Given the description of an element on the screen output the (x, y) to click on. 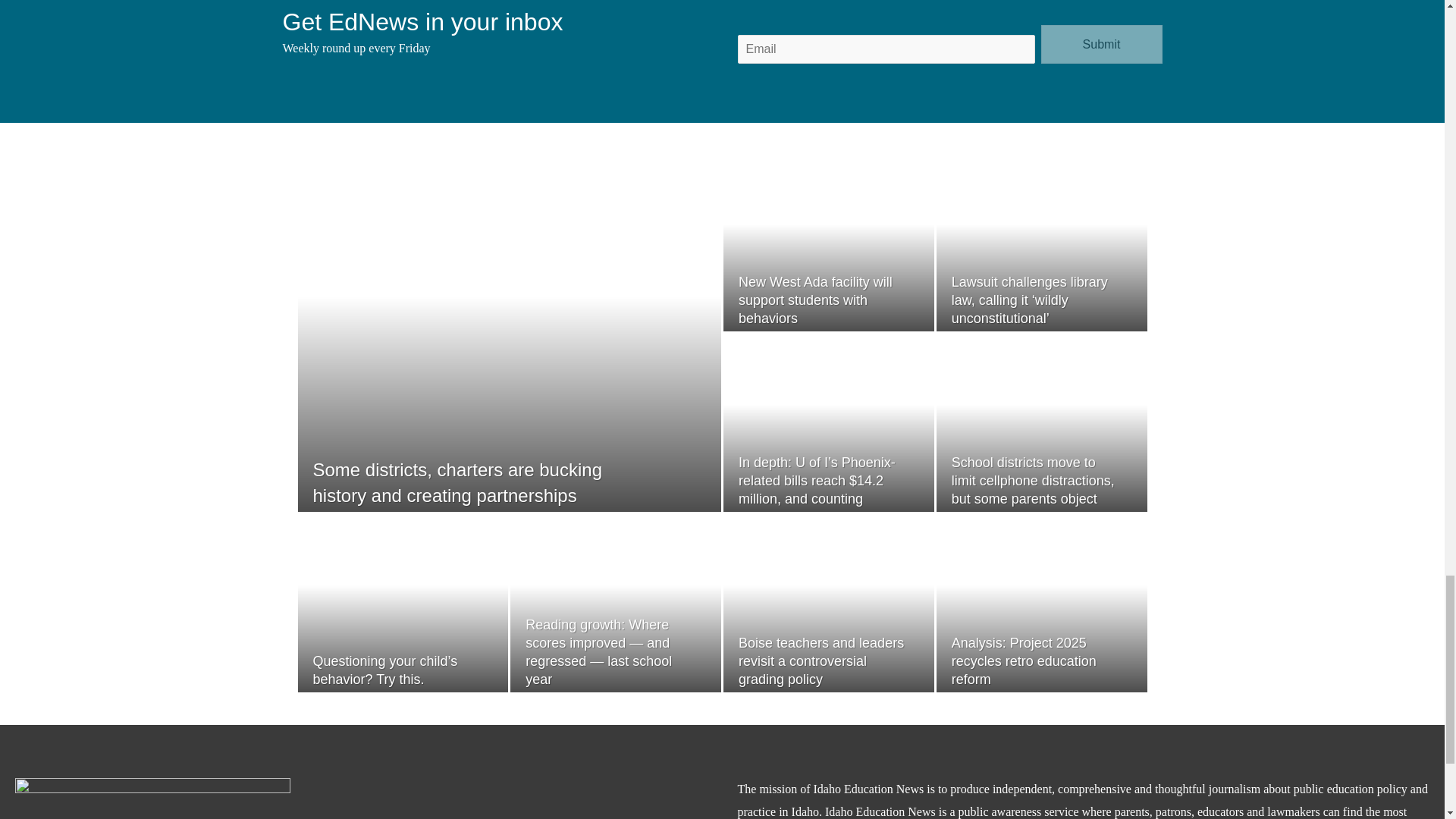
New West Ada facility will support students with behaviors (815, 299)
